Given the description of an element on the screen output the (x, y) to click on. 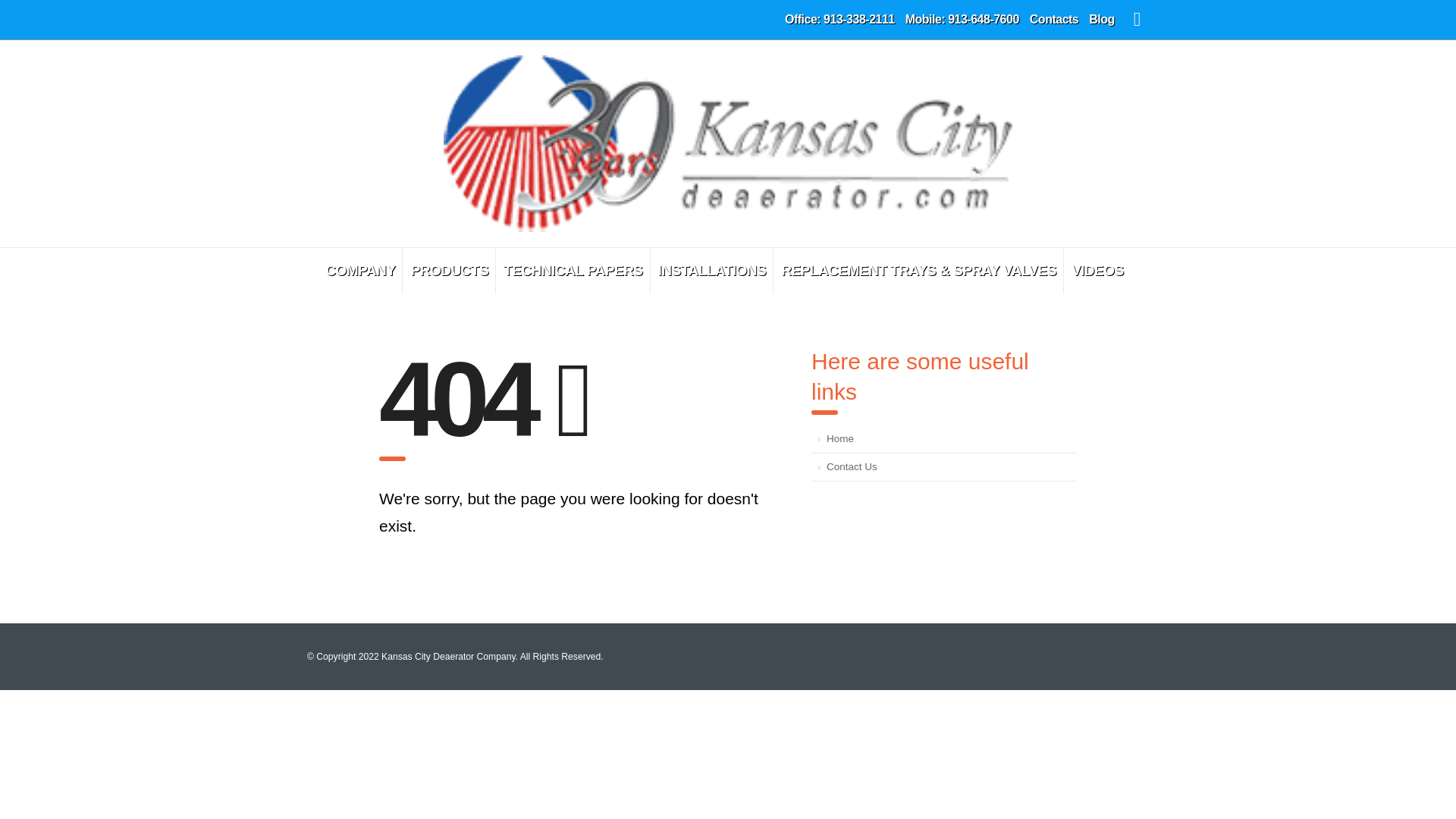
PRODUCTS (449, 270)
Contacts (1053, 19)
Blog (1102, 19)
TECHNICAL PAPERS (572, 270)
COMPANY (360, 270)
